Given the description of an element on the screen output the (x, y) to click on. 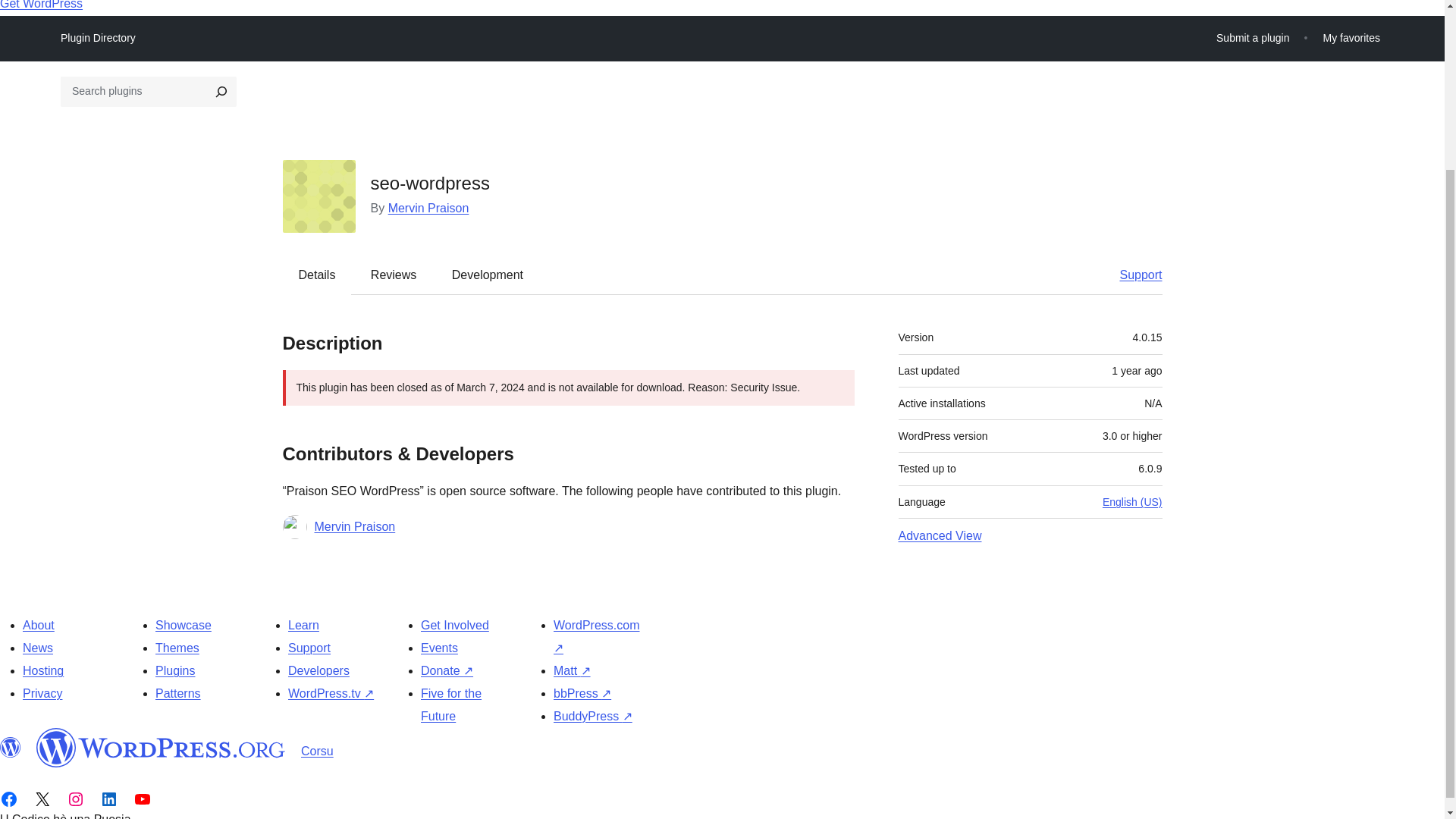
My favorites (1351, 38)
Mervin Praison (428, 207)
Plugin Directory (97, 37)
Mervin Praison (354, 526)
Submit a plugin (1253, 38)
Details (316, 275)
WordPress.org (10, 747)
Reviews (392, 275)
Get WordPress (41, 4)
WordPress.org (160, 747)
Development (487, 275)
Support (1132, 275)
